Given the description of an element on the screen output the (x, y) to click on. 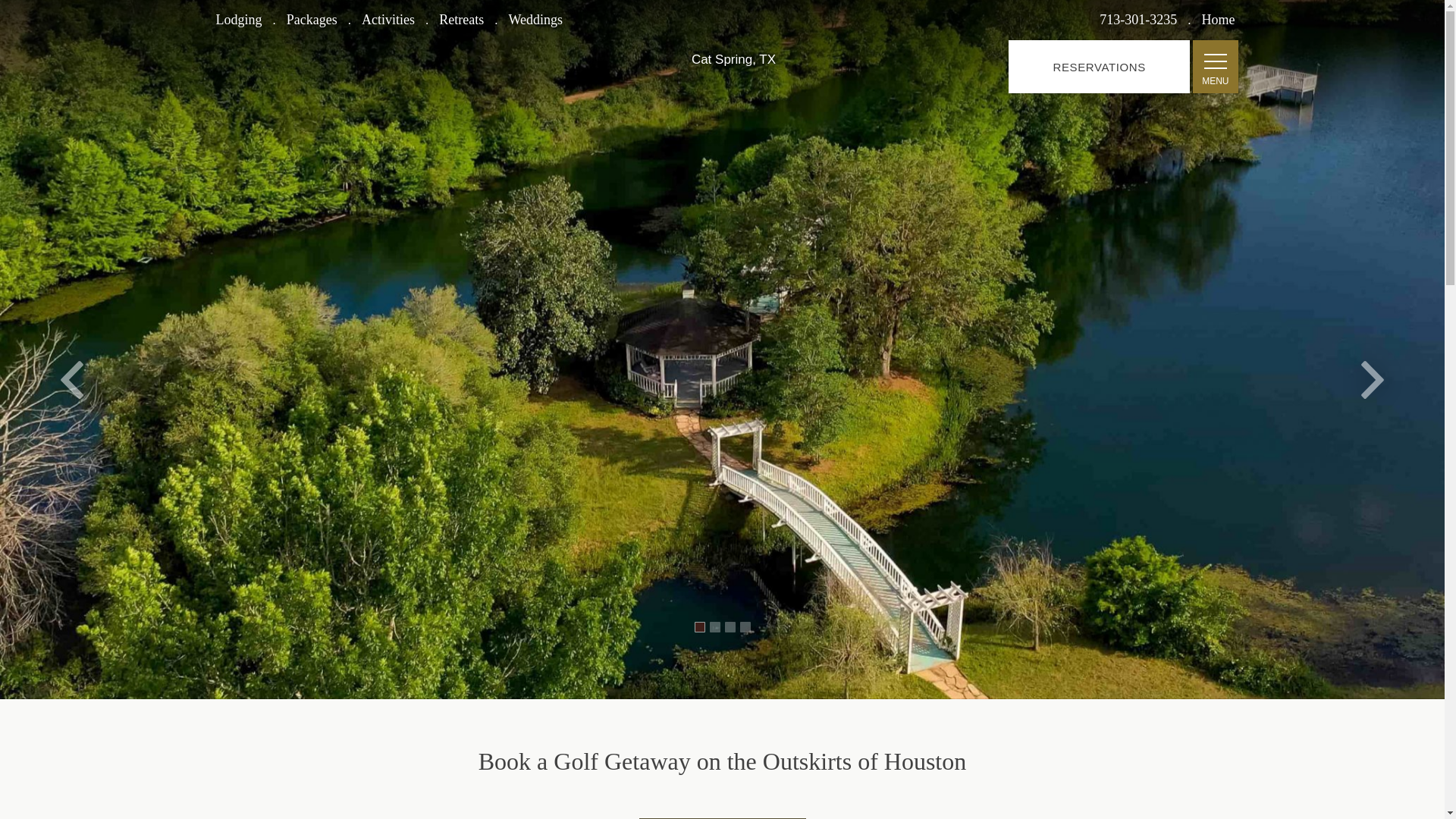
Weddings (535, 19)
Packages (311, 19)
713-301-3235 (1138, 19)
RESERVATIONS (1099, 66)
Retreats (461, 19)
Lodging (238, 19)
Home (1217, 19)
BlissWood Bed and Breakfast Ranch (732, 26)
BlissWood Bed and Breakfast Ranch (732, 26)
Activities (387, 19)
